Given the description of an element on the screen output the (x, y) to click on. 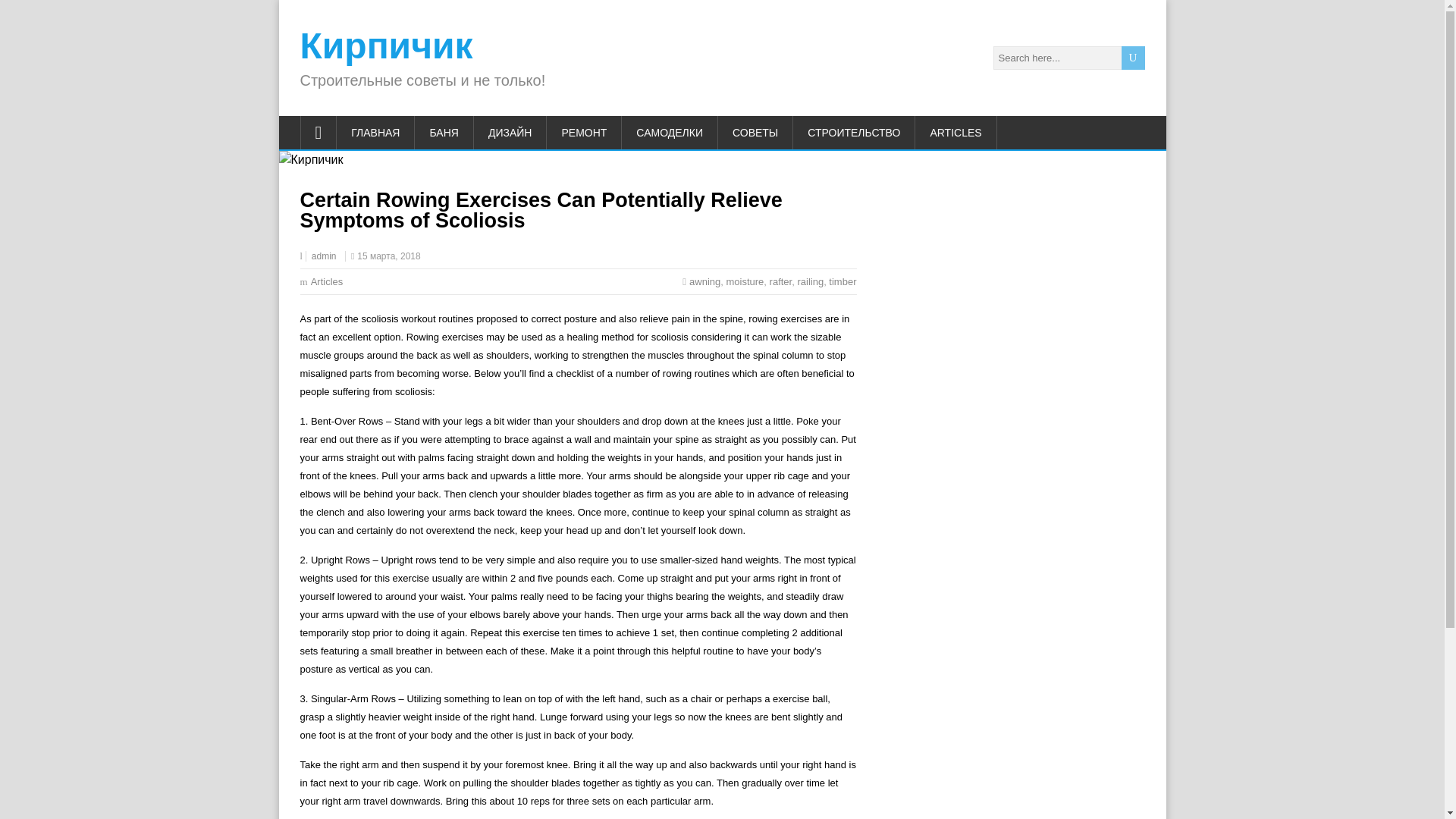
U (1132, 57)
admin (323, 255)
timber (842, 281)
U (1132, 57)
awning (704, 281)
moisture (743, 281)
U (1132, 57)
ARTICLES (955, 132)
Articles (327, 281)
rafter (781, 281)
